Given the description of an element on the screen output the (x, y) to click on. 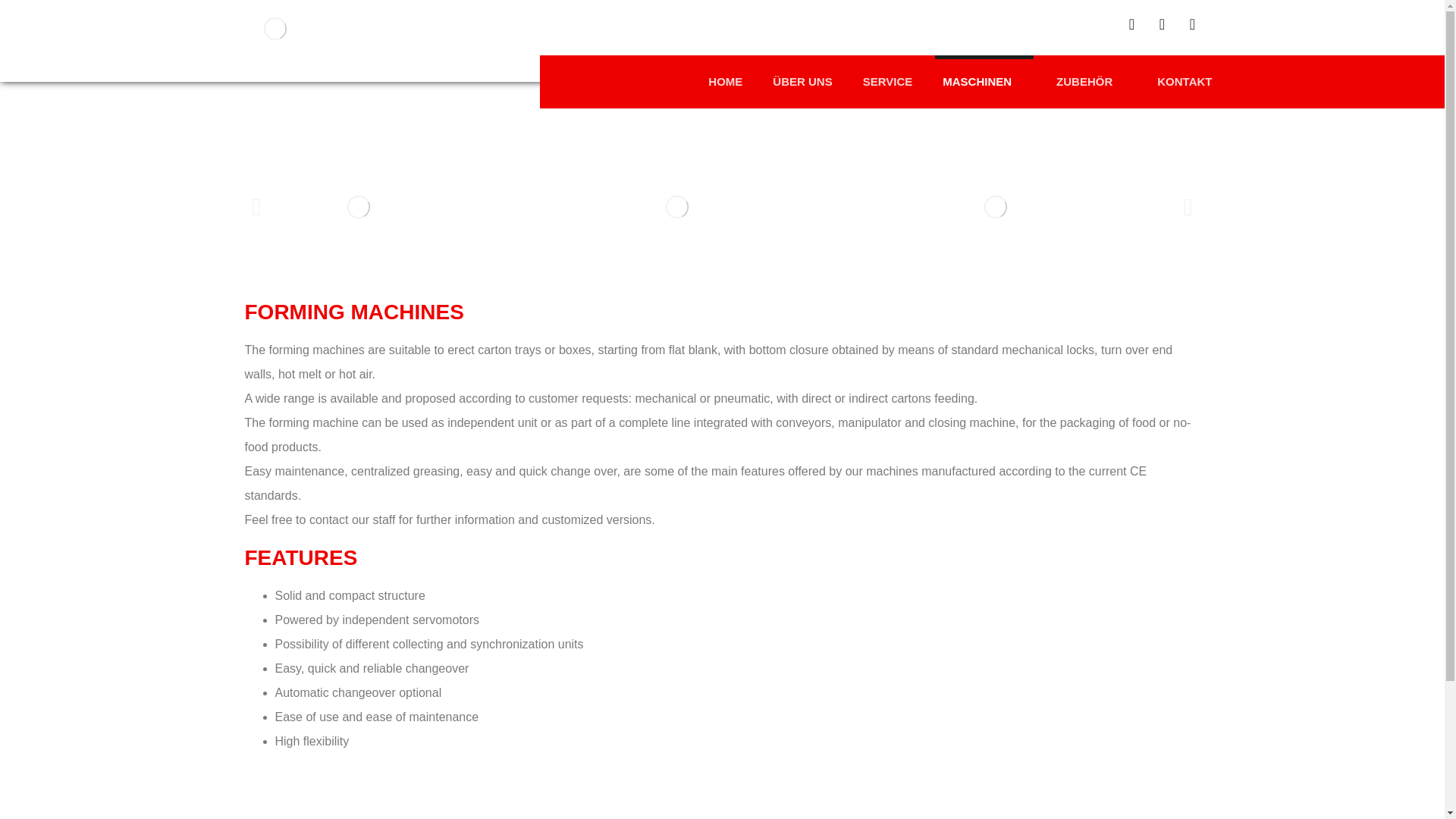
SERVICE (888, 81)
MASCHINEN (983, 81)
HOME (724, 81)
KONTAKT (1185, 81)
Karton und Folien Verpackungsmaschinen (274, 28)
